Given the description of an element on the screen output the (x, y) to click on. 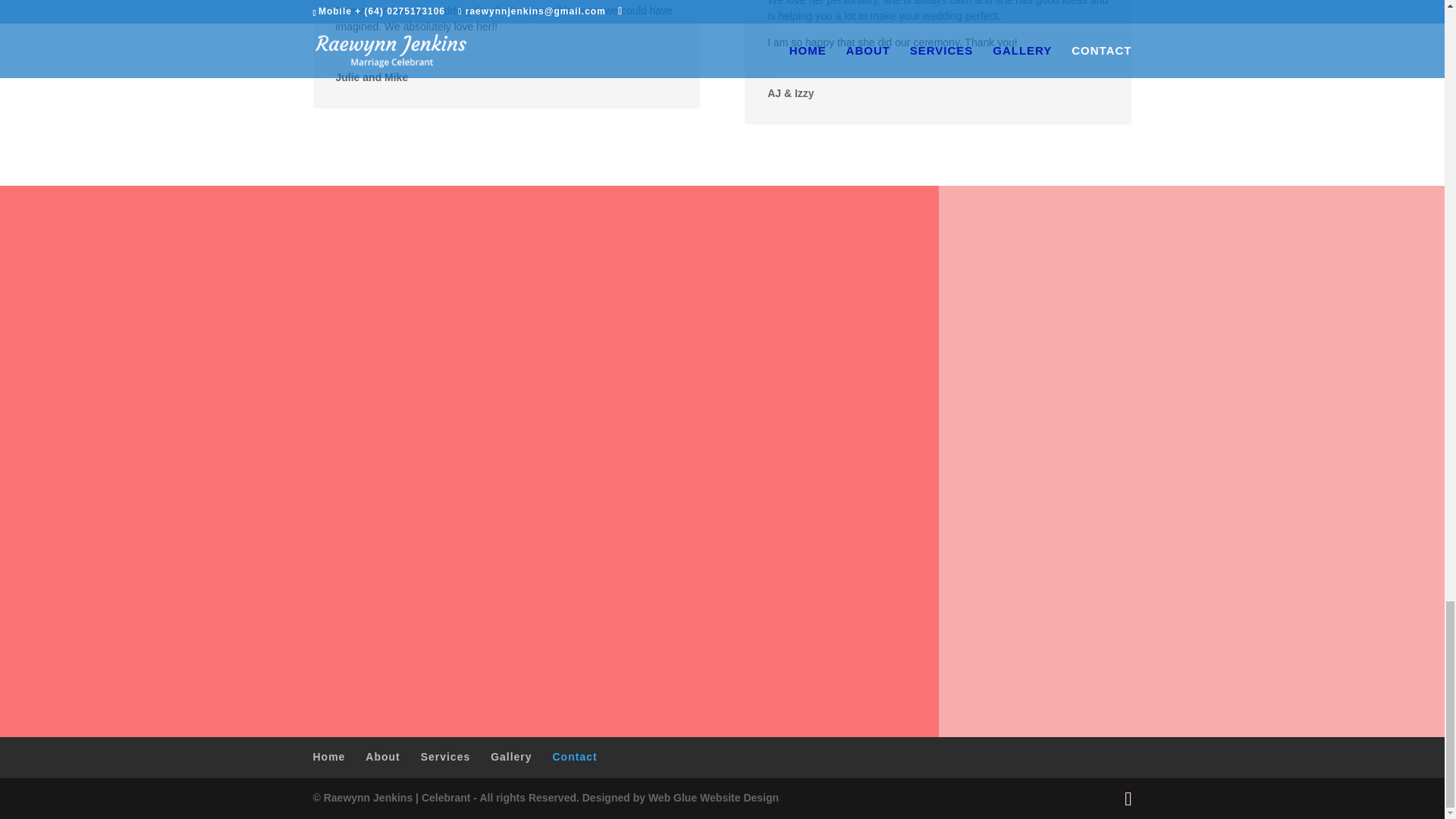
Website Design (739, 797)
Gallery (510, 756)
Contact (573, 756)
Home (329, 756)
Services (445, 756)
About (381, 756)
